Given the description of an element on the screen output the (x, y) to click on. 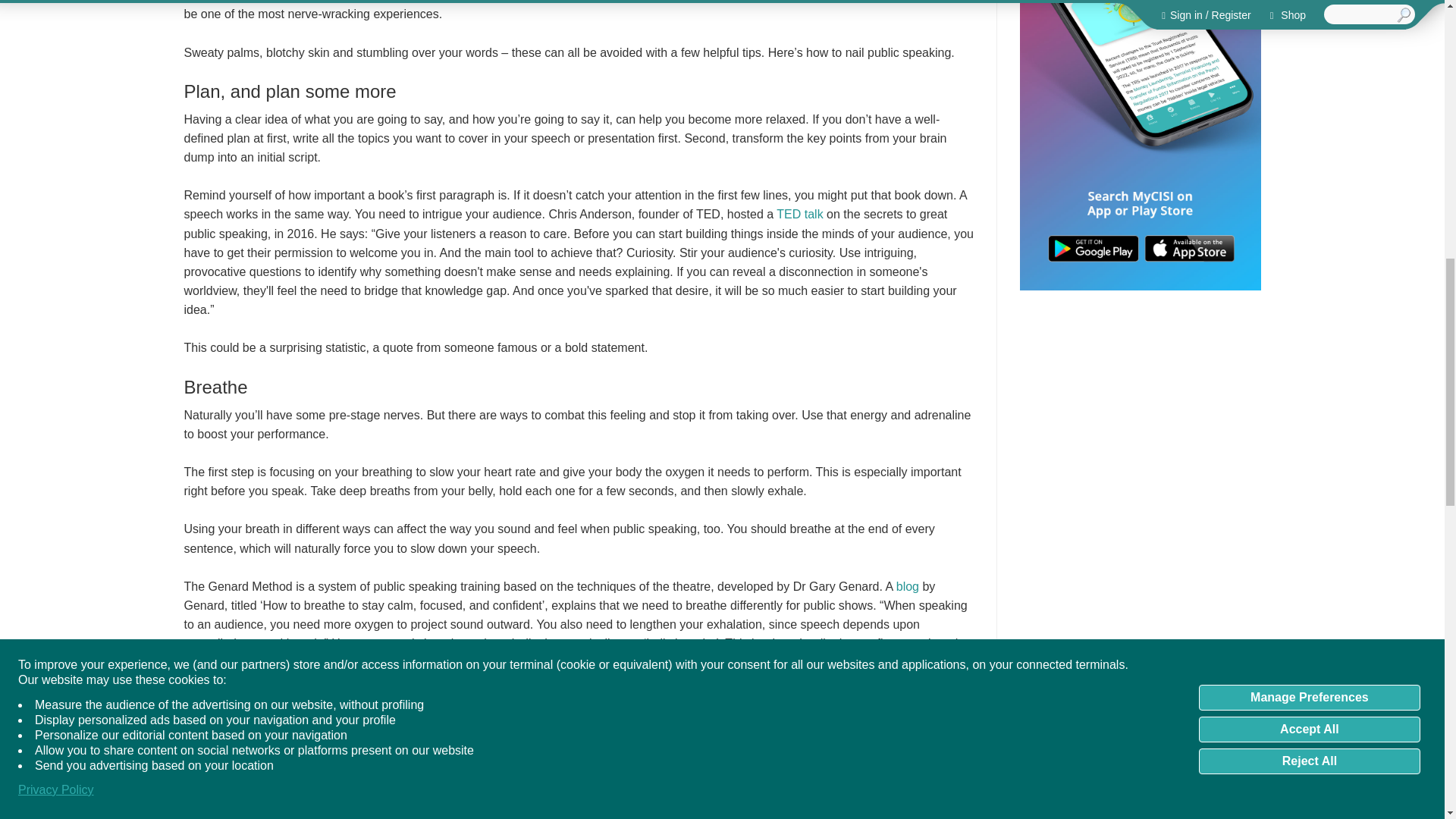
blog (907, 585)
paper (604, 748)
TED talk (799, 214)
